Given the description of an element on the screen output the (x, y) to click on. 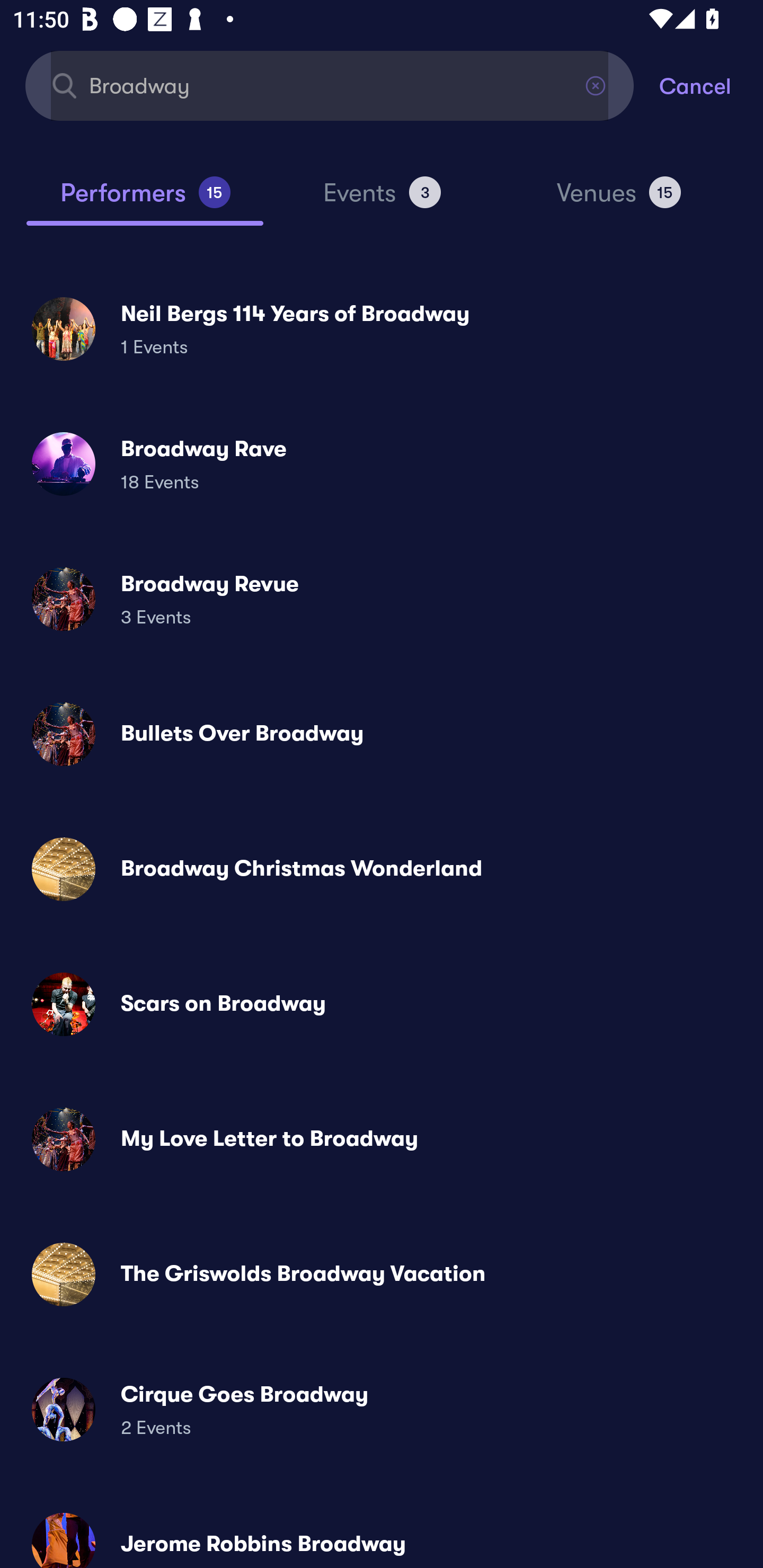
Broadway Find (329, 85)
Broadway Find (329, 85)
Cancel (711, 85)
Performers 15 (144, 200)
Events 3 (381, 200)
Venues 15 (618, 200)
Neil Bergs 114 Years of Broadway 1 Events (381, 328)
Broadway Rave 18 Events (381, 464)
Broadway Revue 3 Events (381, 598)
Bullets Over Broadway (381, 734)
Broadway Christmas Wonderland (381, 869)
Scars on Broadway (381, 1004)
My Love Letter to Broadway (381, 1138)
The Griswolds Broadway Vacation (381, 1273)
Cirque Goes Broadway 2 Events (381, 1409)
Jerome Robbins Broadway (381, 1532)
